Given the description of an element on the screen output the (x, y) to click on. 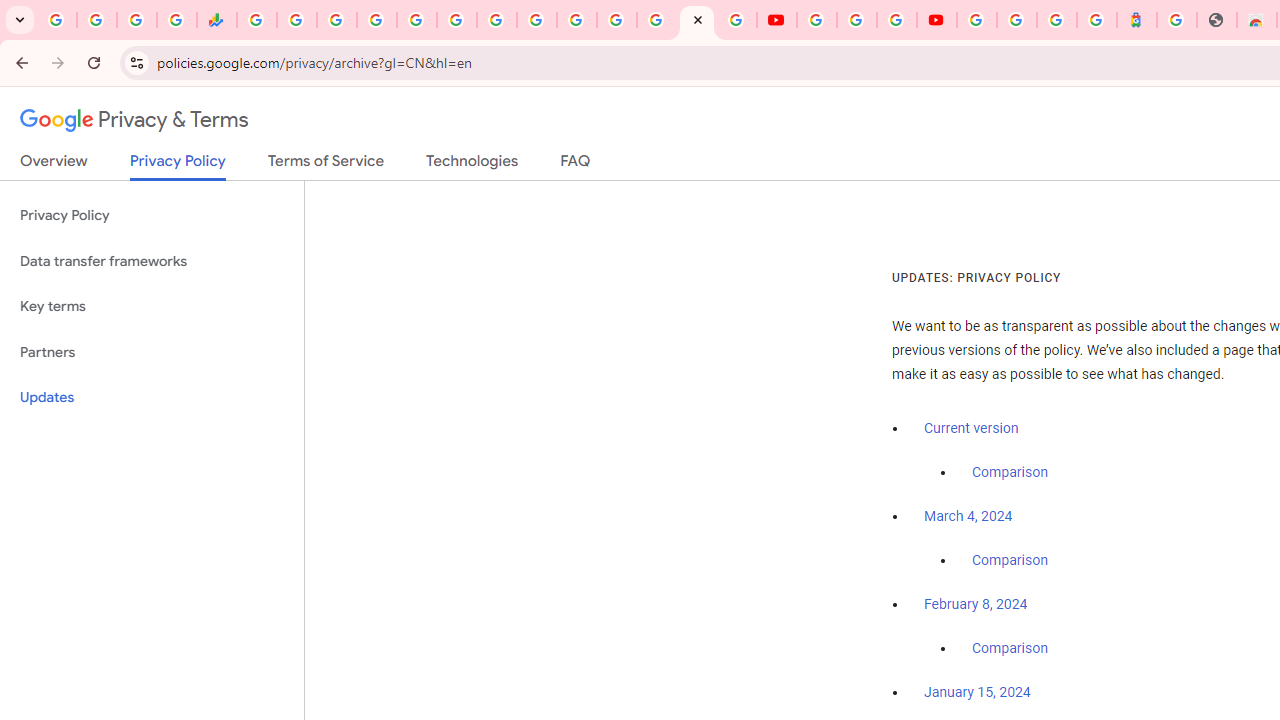
Content Creator Programs & Opportunities - YouTube Creators (936, 20)
Sign in - Google Accounts (1016, 20)
Create your Google Account (896, 20)
Sign in - Google Accounts (376, 20)
YouTube (817, 20)
Android TV Policies and Guidelines - Transparency Center (497, 20)
Google Workspace Admin Community (56, 20)
Atour Hotel - Google hotels (1137, 20)
